Given the description of an element on the screen output the (x, y) to click on. 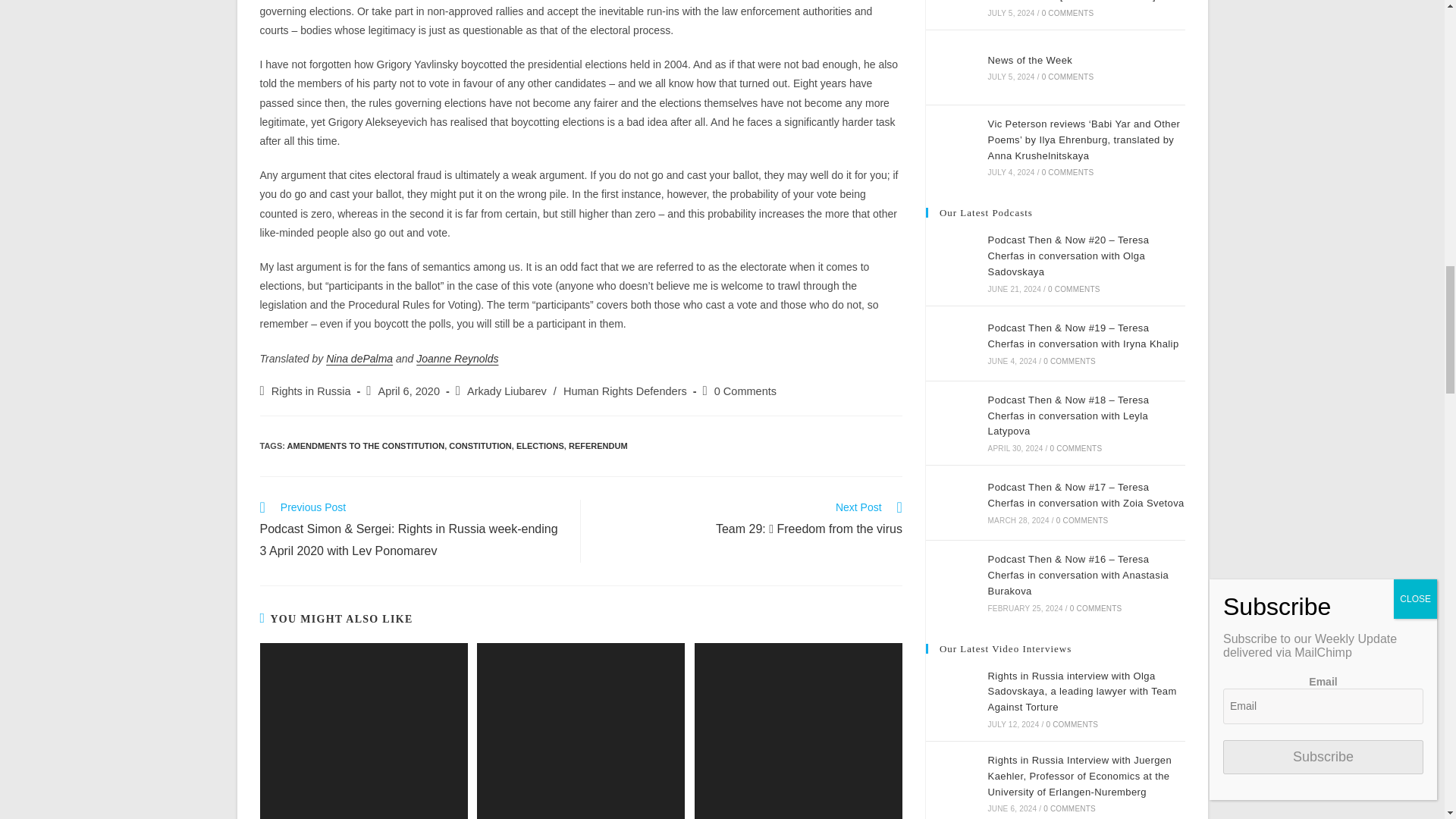
Arkady Liubarev (507, 390)
Posts by Rights in Russia (310, 390)
Joanne Reynolds (456, 358)
Nina dePalma (359, 358)
News of the Week (951, 67)
Human Rights Defenders (625, 390)
Rights in Russia (310, 390)
0 Comments (745, 390)
